Given the description of an element on the screen output the (x, y) to click on. 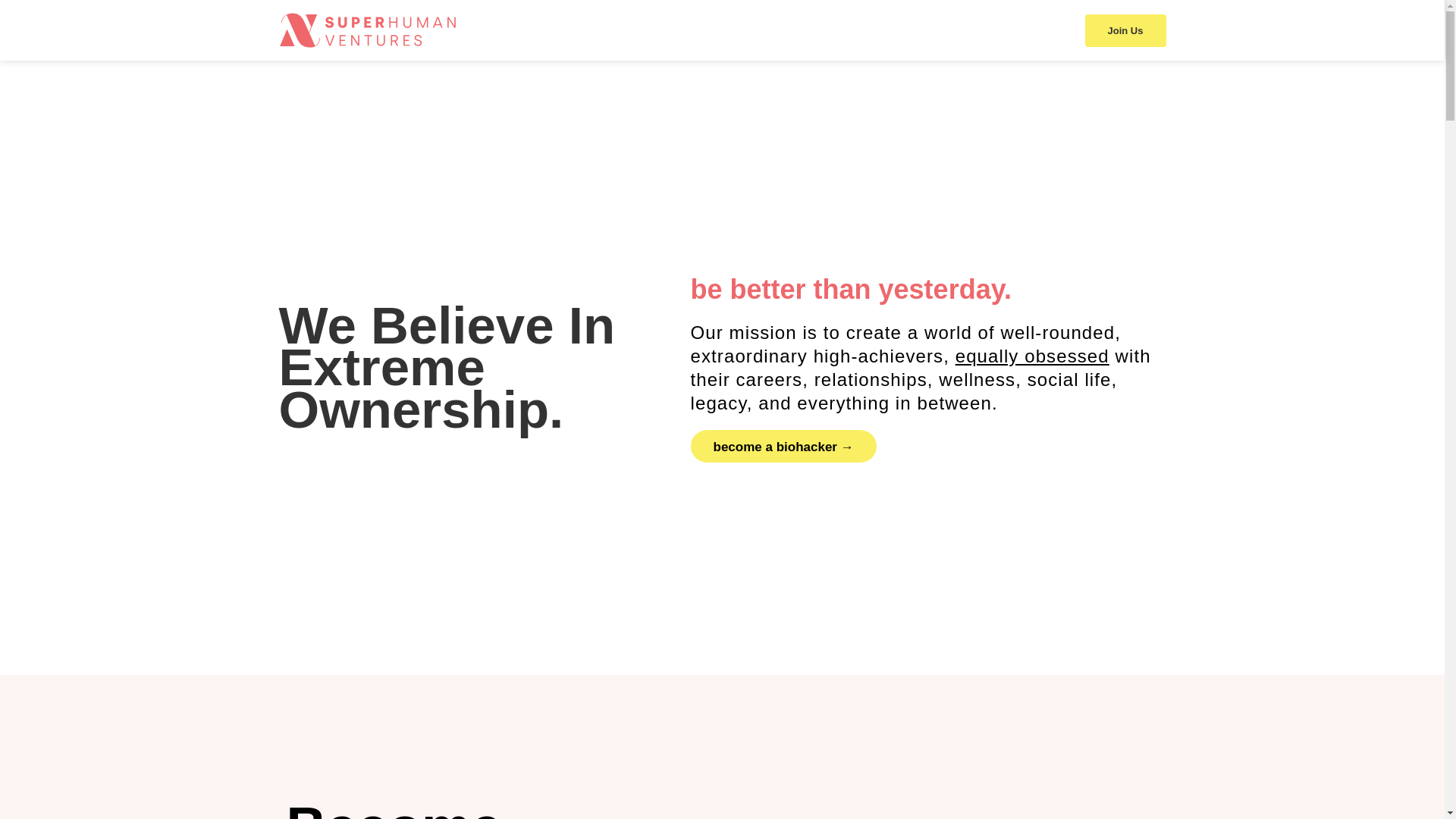
Join Us (1125, 29)
